Given the description of an element on the screen output the (x, y) to click on. 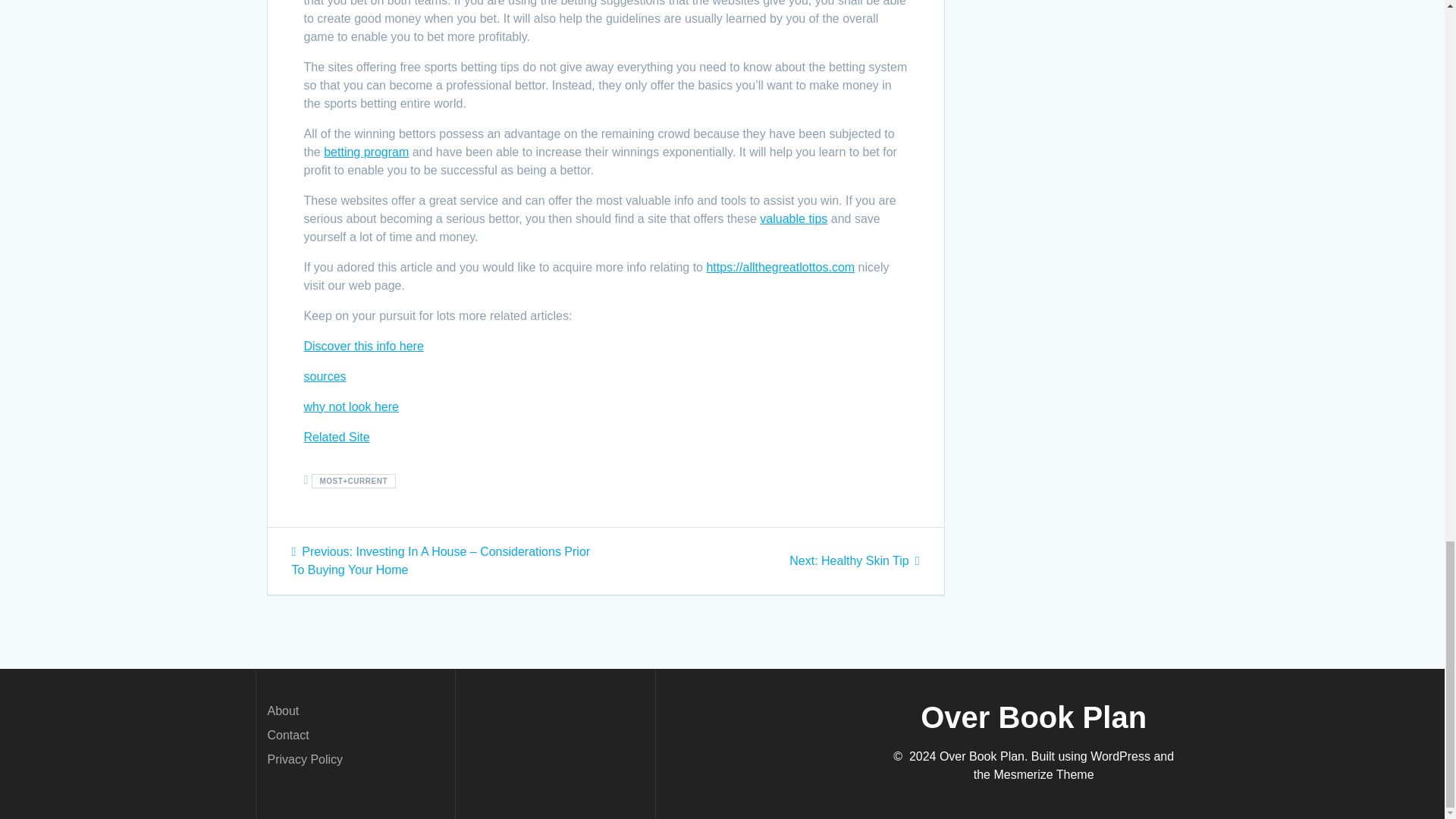
sources (324, 376)
Related Site (335, 436)
About (282, 710)
betting program (853, 560)
Discover this info here (366, 151)
valuable tips (362, 345)
why not look here (793, 218)
Contact (349, 406)
